Given the description of an element on the screen output the (x, y) to click on. 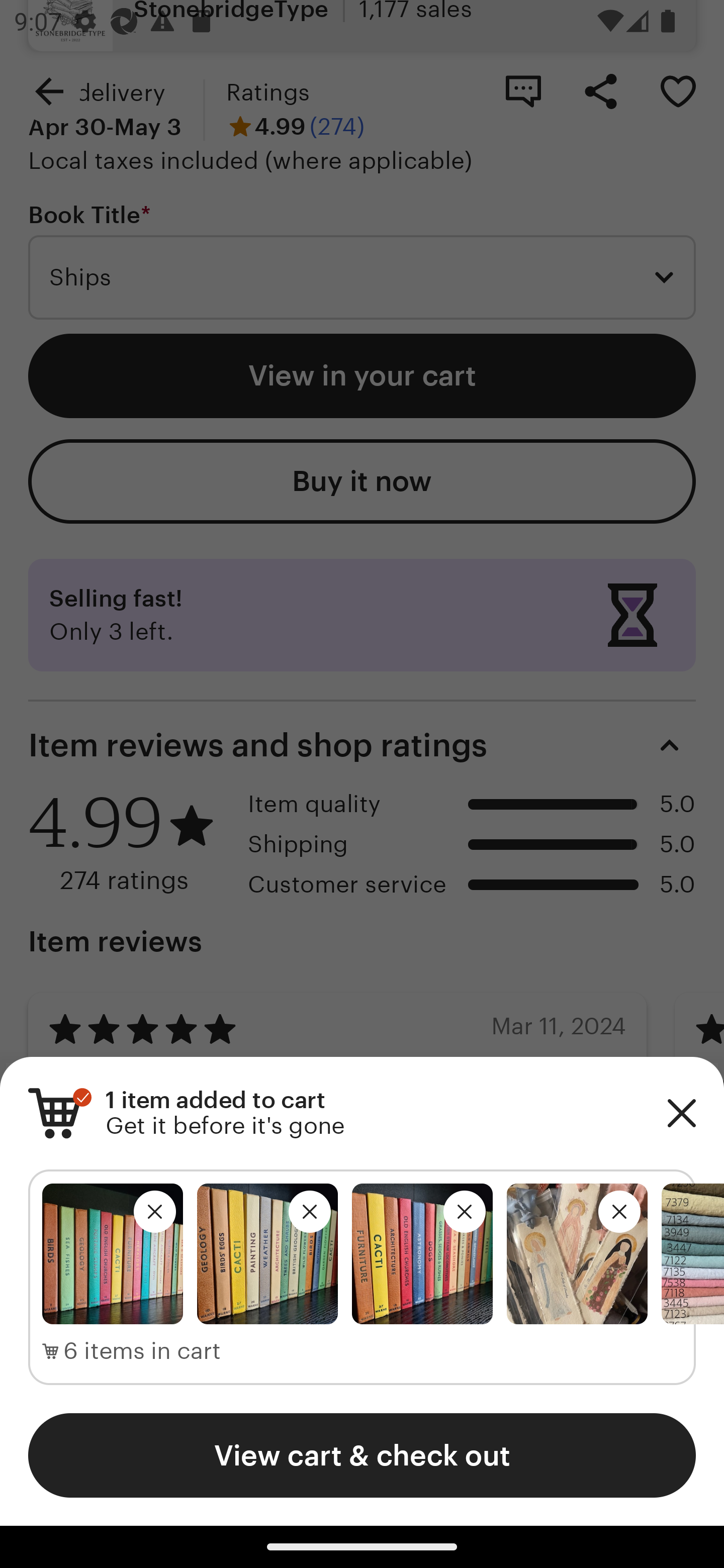
6 items in cart (131, 1351)
View cart & check out (361, 1454)
